Given the description of an element on the screen output the (x, y) to click on. 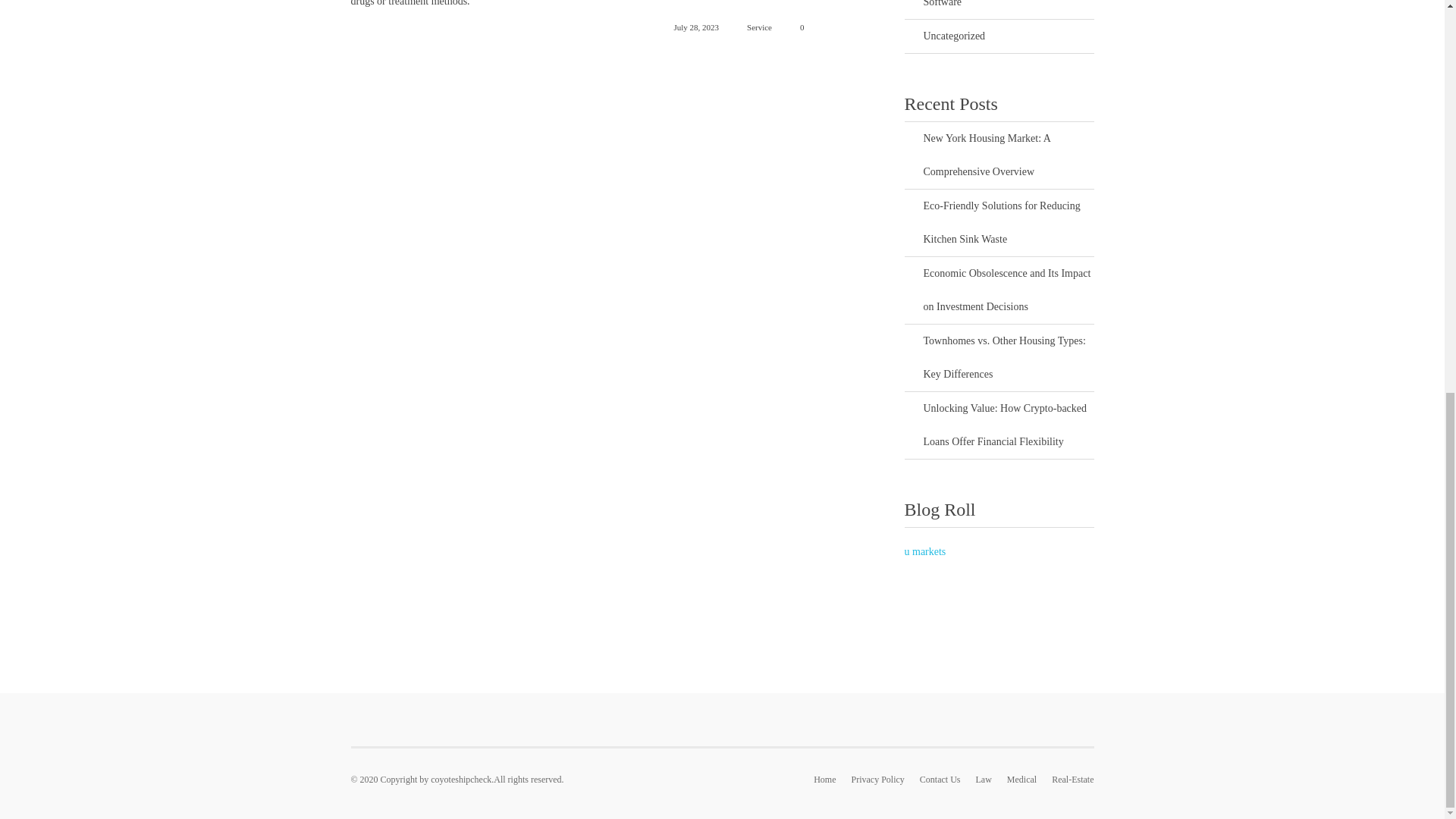
July 28, 2023 (687, 27)
Townhomes vs. Other Housing Types: Key Differences (1008, 357)
New York Housing Market: A Comprehensive Overview (1008, 155)
Service (758, 26)
Eco-Friendly Solutions for Reducing Kitchen Sink Waste (1008, 222)
Uncategorized (1008, 36)
Software (1008, 9)
July 28, 2023 (687, 27)
Economic Obsolescence and Its Impact on Investment Decisions (1008, 290)
